Given the description of an element on the screen output the (x, y) to click on. 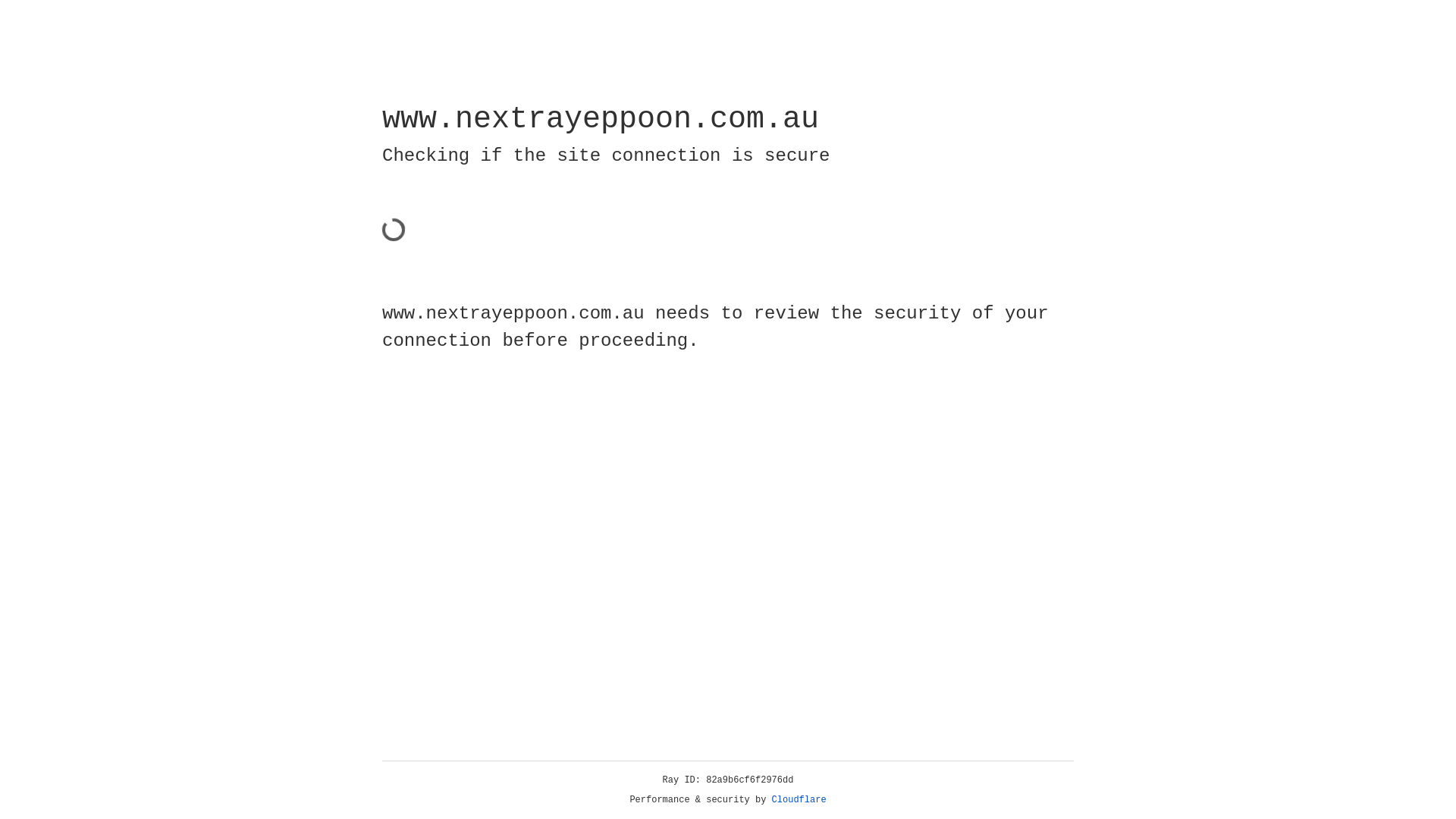
Cloudflare Element type: text (798, 799)
